Given the description of an element on the screen output the (x, y) to click on. 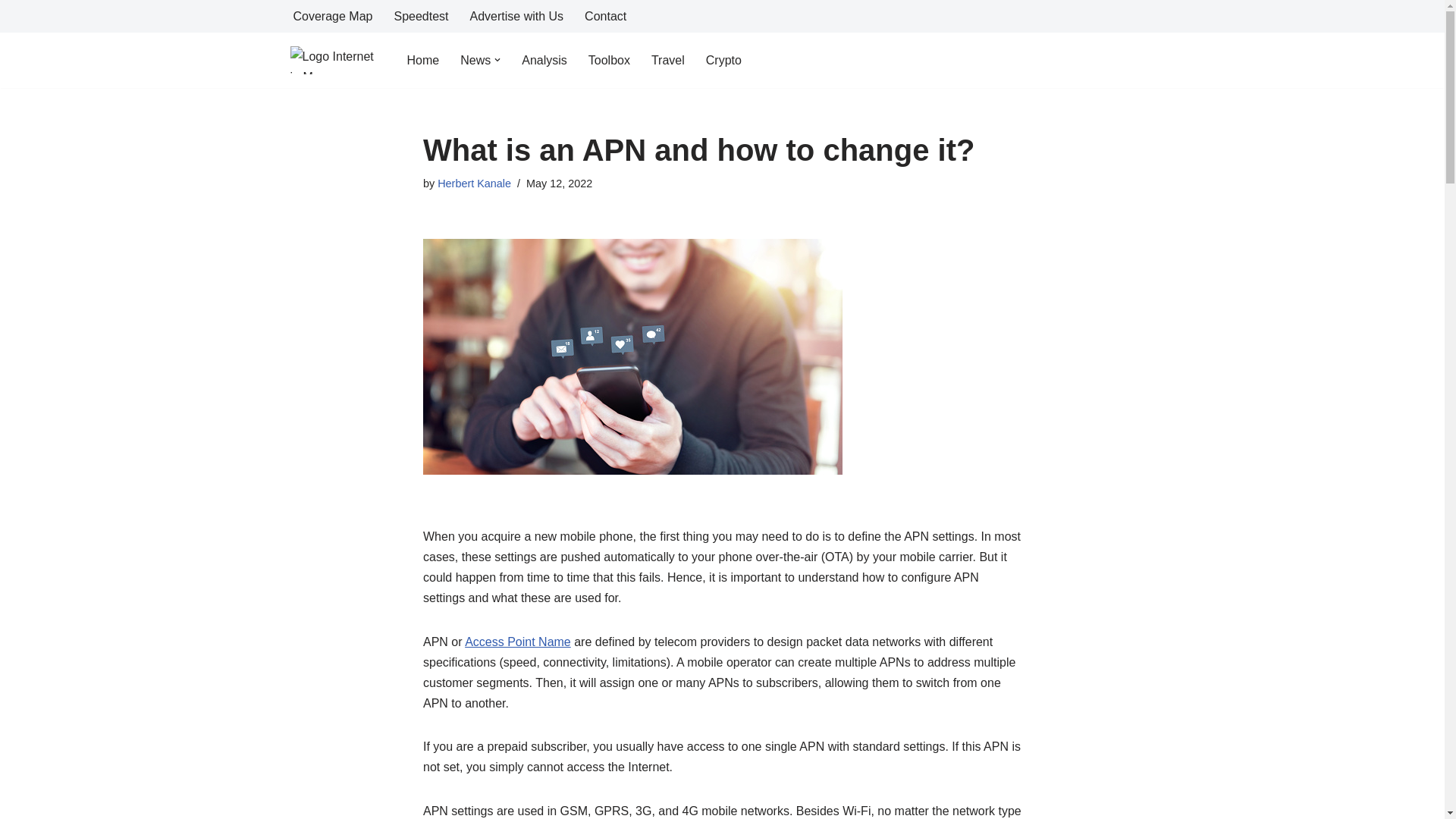
Access Point Name (517, 641)
Crypto (723, 59)
Skip to content (11, 31)
News (475, 59)
Travel (667, 59)
Posts by Herbert Kanale (474, 183)
Speedtest (420, 15)
Coverage Map (332, 15)
Home (422, 59)
Contact (605, 15)
